Given the description of an element on the screen output the (x, y) to click on. 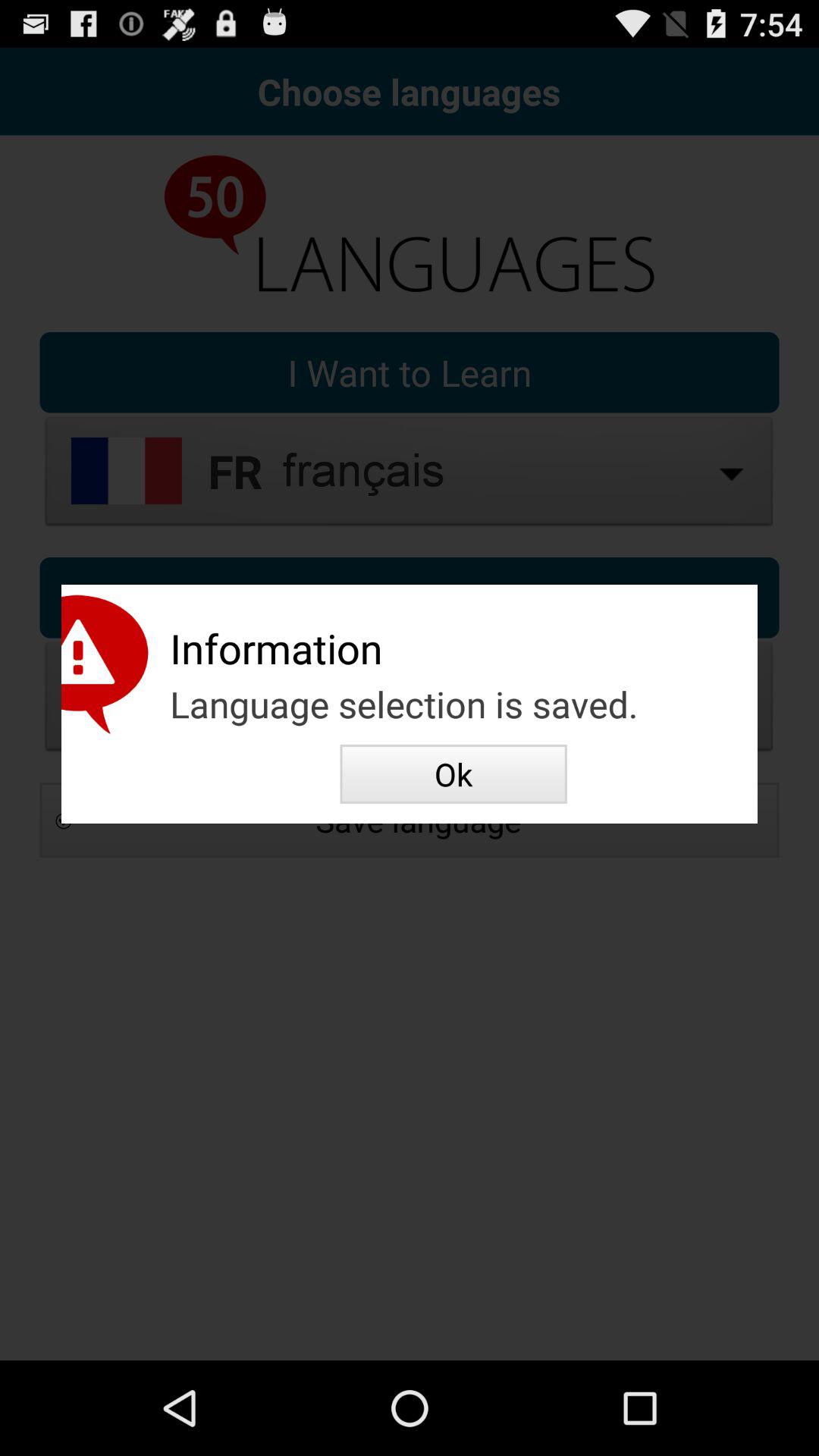
click the item below the language selection is app (453, 773)
